Given the description of an element on the screen output the (x, y) to click on. 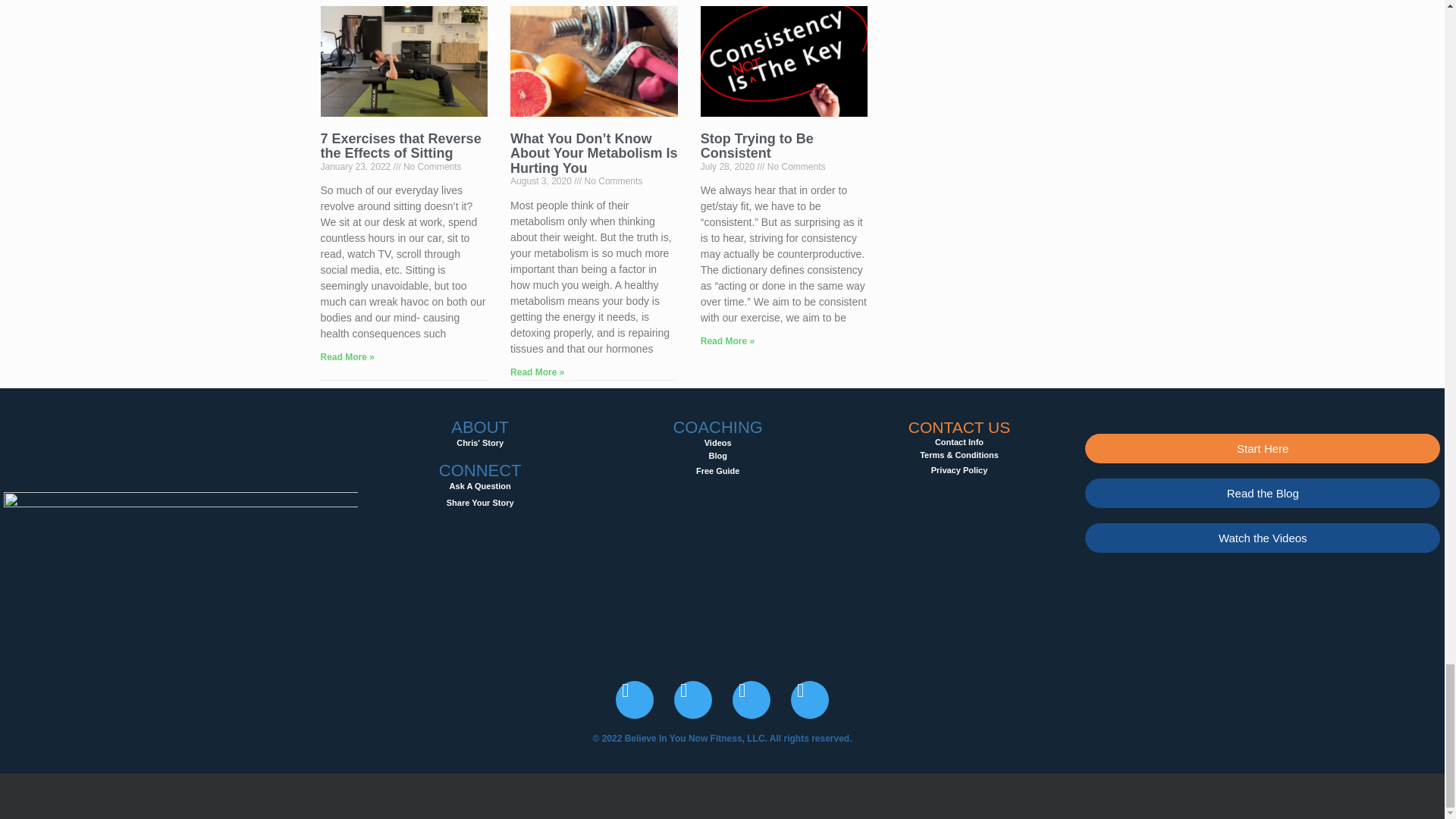
Free Guide (717, 470)
7 Exercises that Reverse the Effects of Sitting (400, 146)
Blog (716, 455)
Videos (479, 493)
Stop Trying to Be Consistent (718, 442)
Chris' Story (756, 146)
